Given the description of an element on the screen output the (x, y) to click on. 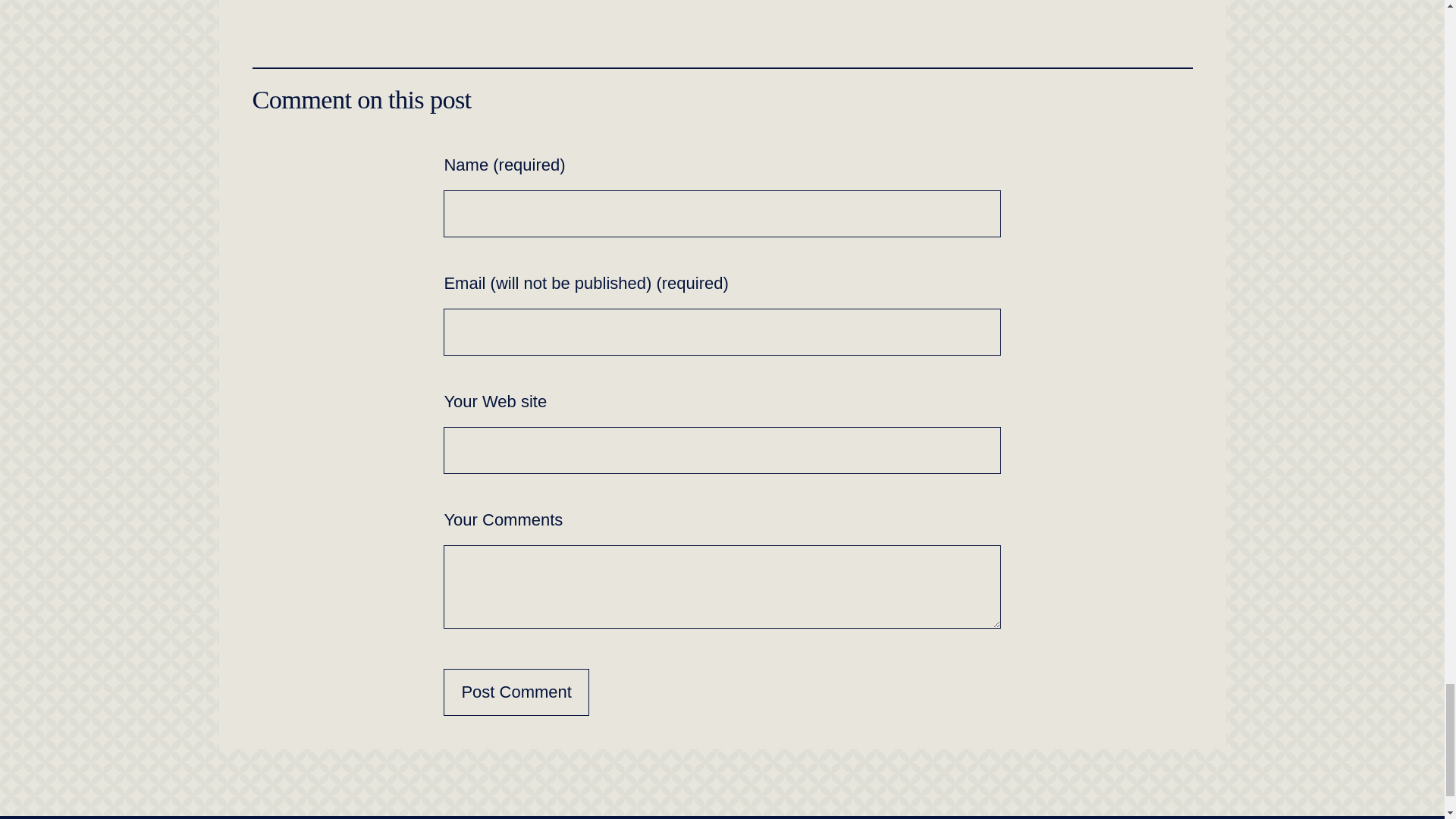
Post Comment (516, 692)
